Given the description of an element on the screen output the (x, y) to click on. 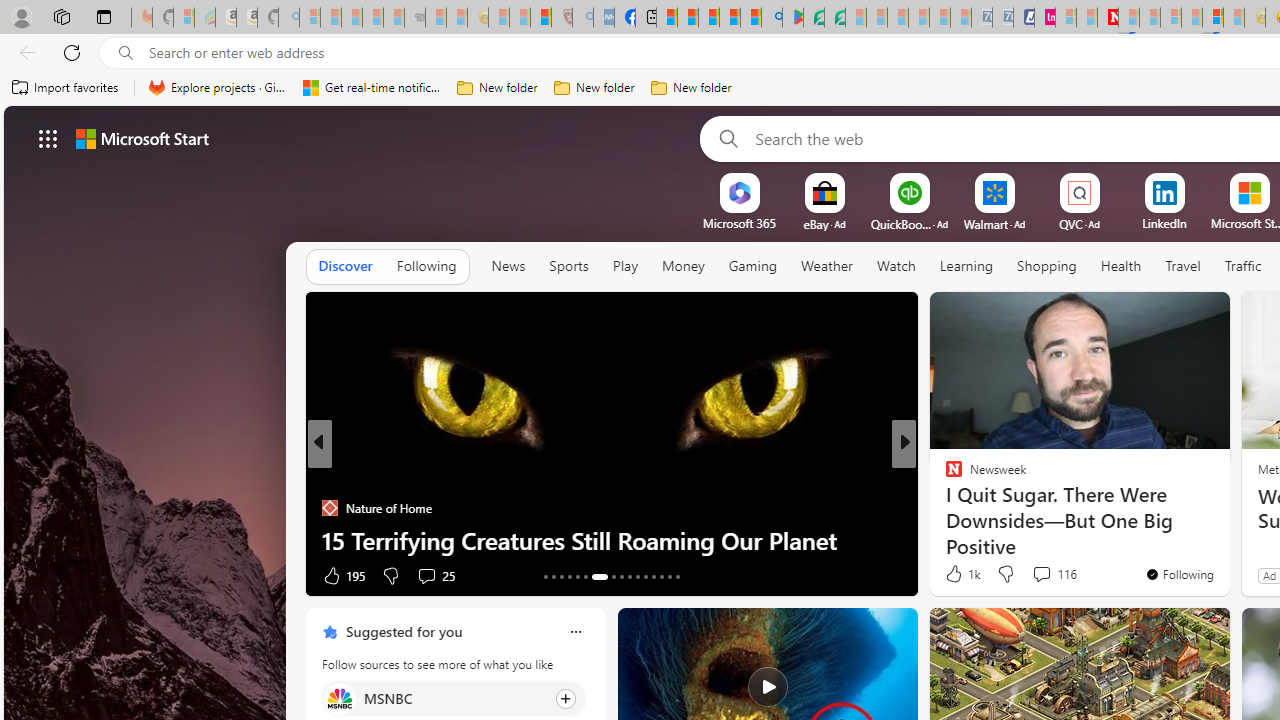
Microsoft Start - Sleeping (1086, 17)
Local - MSN (541, 17)
Pets - MSN (729, 17)
Class: icon-img (575, 632)
View comments 48 Comment (1051, 574)
Microsoft Word - consumer-privacy address update 2.2021 (834, 17)
Epic Reactions (944, 507)
AutomationID: tab-21 (620, 576)
1k Like (961, 574)
SlashGear (944, 507)
Watch (896, 267)
View comments 307 Comment (1035, 575)
AutomationID: tab-42 (677, 576)
Shopping (1046, 267)
